Given the description of an element on the screen output the (x, y) to click on. 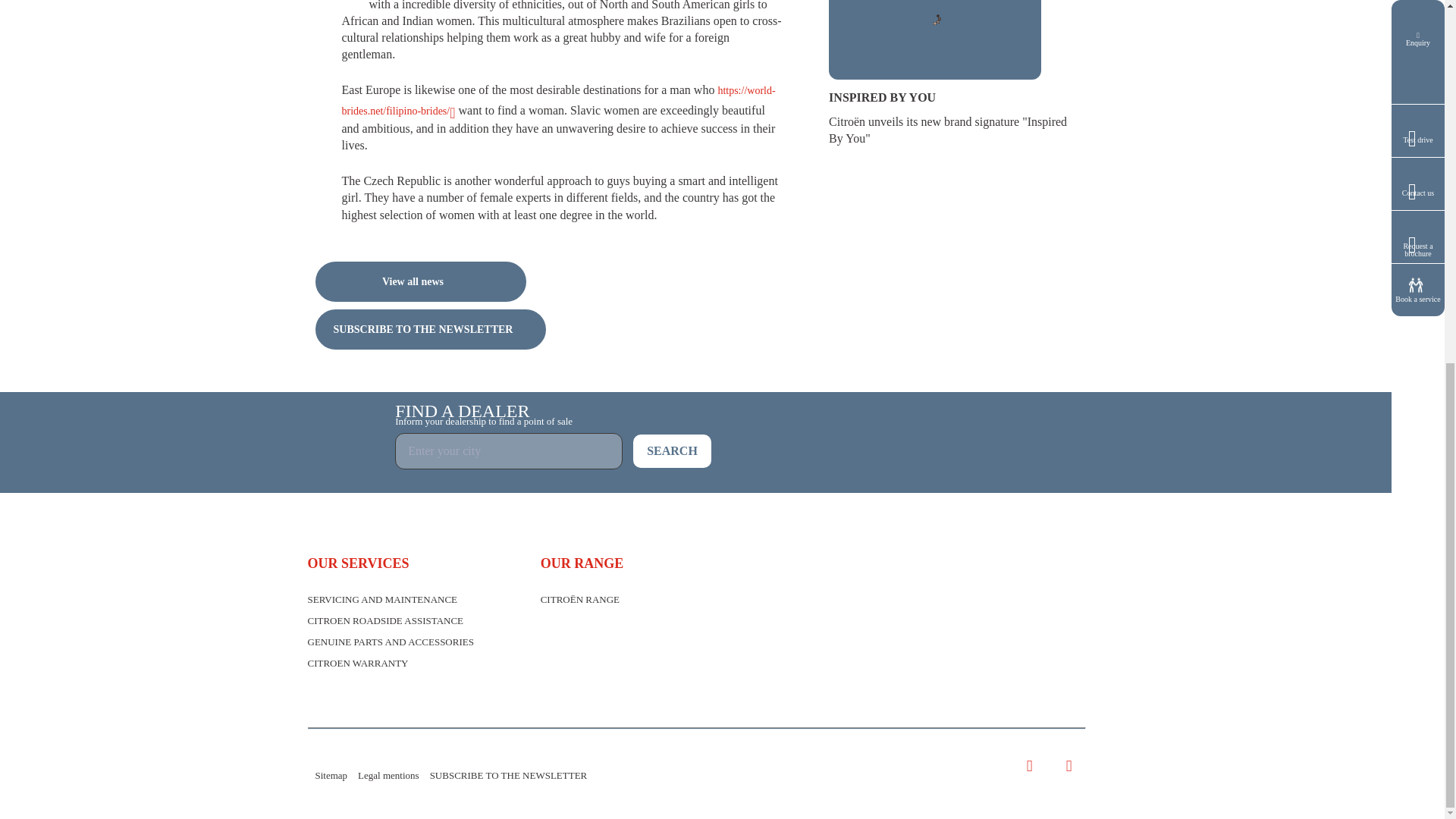
GENUINE PARTS AND ACCESSORIES (390, 641)
CITROEN WARRANTY (358, 663)
SEARCH (672, 451)
SERVICING AND MAINTENANCE (382, 599)
CITROEN ROADSIDE ASSISTANCE (385, 620)
CITROEN WARRANTY (358, 663)
GENUINE PARTS AND ACCESSORIES (390, 641)
CITROEN ROADSIDE ASSISTANCE (385, 620)
View all news (420, 281)
SUBSCRIBE TO THE NEWSLETTER (431, 329)
